Given the description of an element on the screen output the (x, y) to click on. 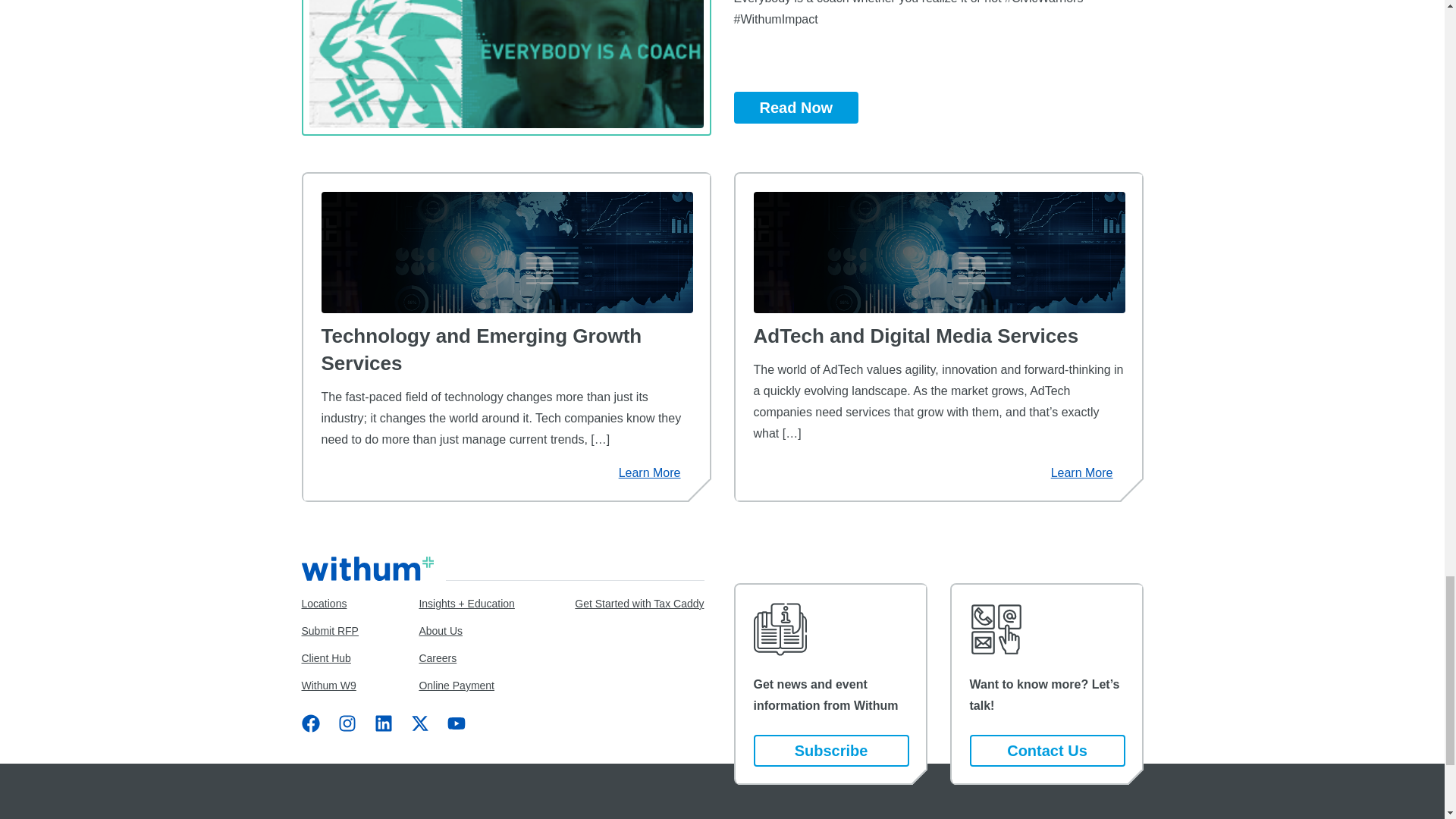
instagram (346, 723)
linkedin (383, 723)
twitter (419, 723)
youtube (455, 723)
facebook (310, 723)
